Given the description of an element on the screen output the (x, y) to click on. 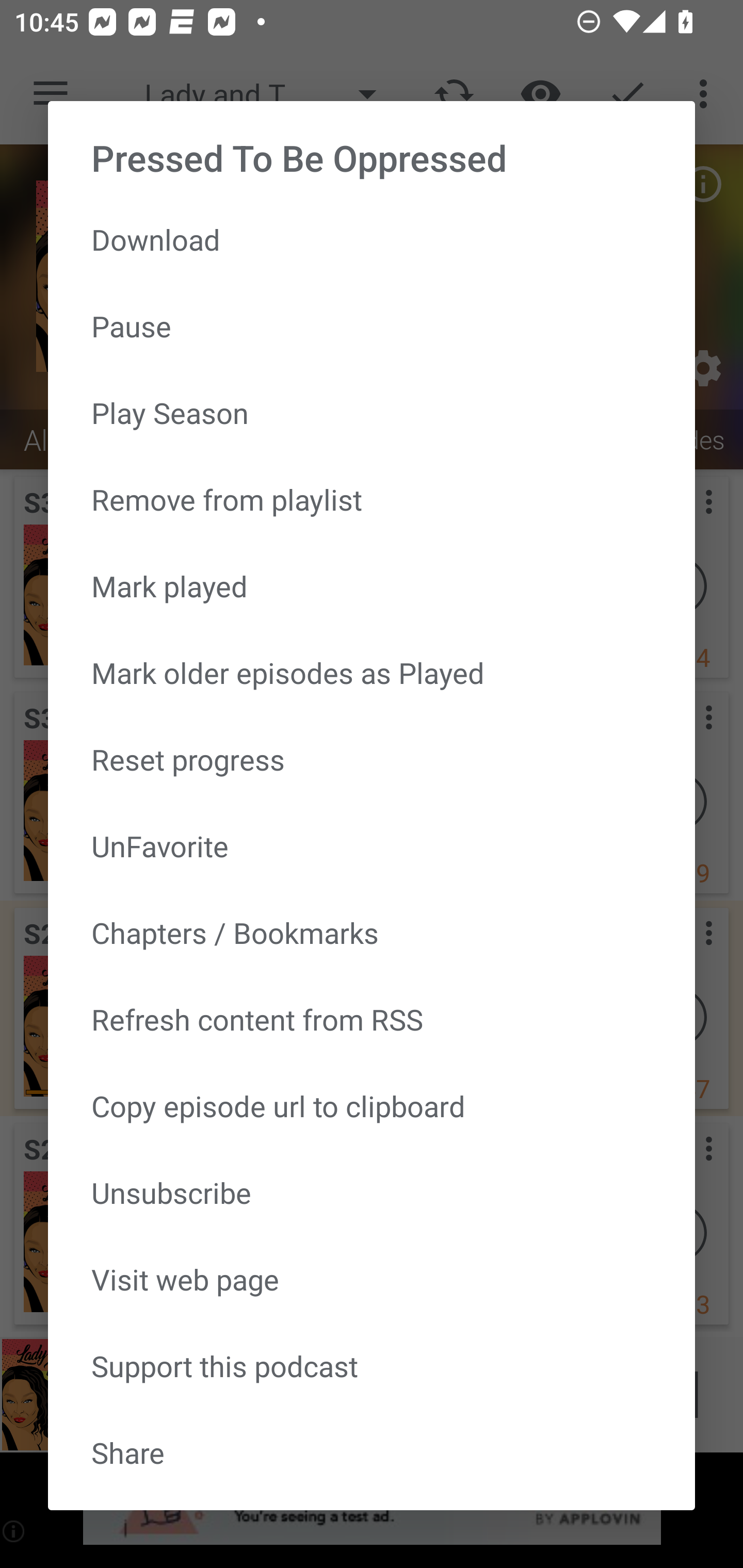
Download (371, 239)
Pause (371, 326)
Play Season (371, 413)
Remove from playlist (371, 499)
Mark played (371, 585)
Mark older episodes as Played (371, 672)
Reset progress (371, 759)
UnFavorite (371, 845)
Chapters / Bookmarks (371, 932)
Refresh content from RSS (371, 1019)
Copy episode url to clipboard (371, 1106)
Unsubscribe (371, 1192)
Visit web page (371, 1278)
Support this podcast (371, 1365)
Share (371, 1452)
